Given the description of an element on the screen output the (x, y) to click on. 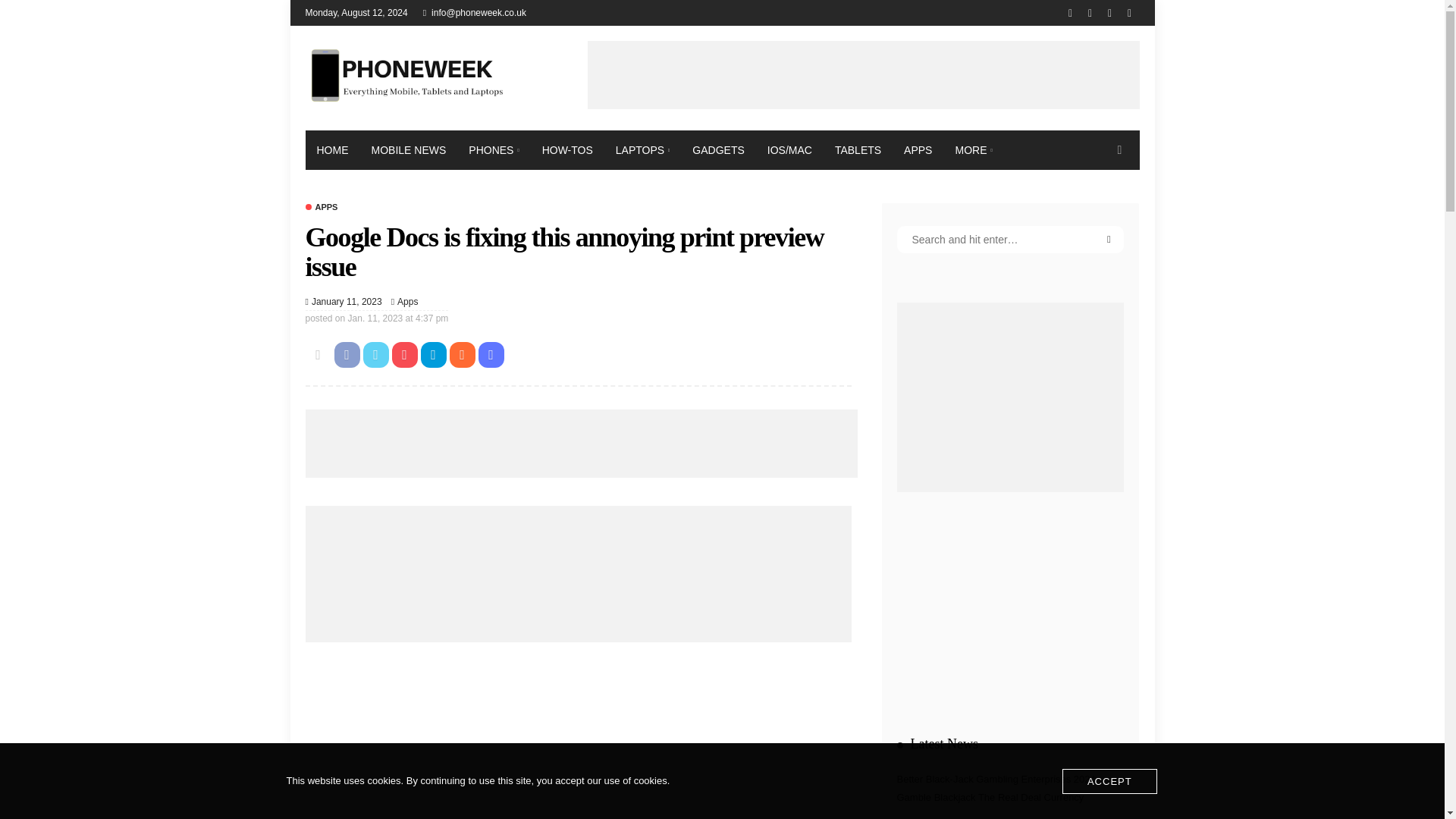
MOBILE NEWS (408, 149)
TABLETS (858, 149)
PHONES (493, 149)
APPS (917, 149)
APPS (320, 207)
MORE (973, 149)
GADGETS (718, 149)
Apps (407, 301)
Apps (320, 207)
search (1118, 149)
